Given the description of an element on the screen output the (x, y) to click on. 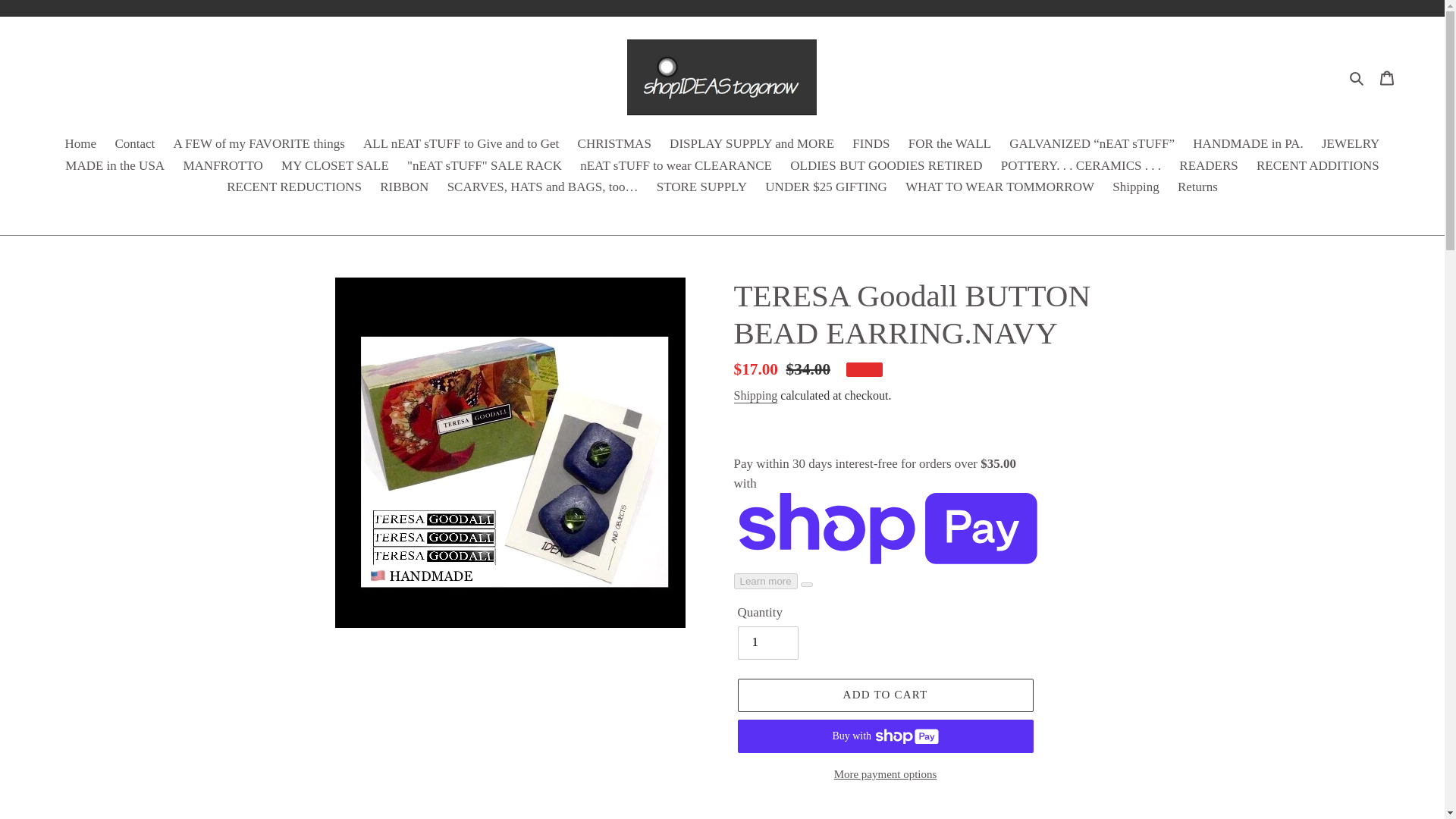
1 (766, 643)
Cart (1387, 77)
Contact (133, 145)
Home (81, 145)
Search (1357, 76)
